Given the description of an element on the screen output the (x, y) to click on. 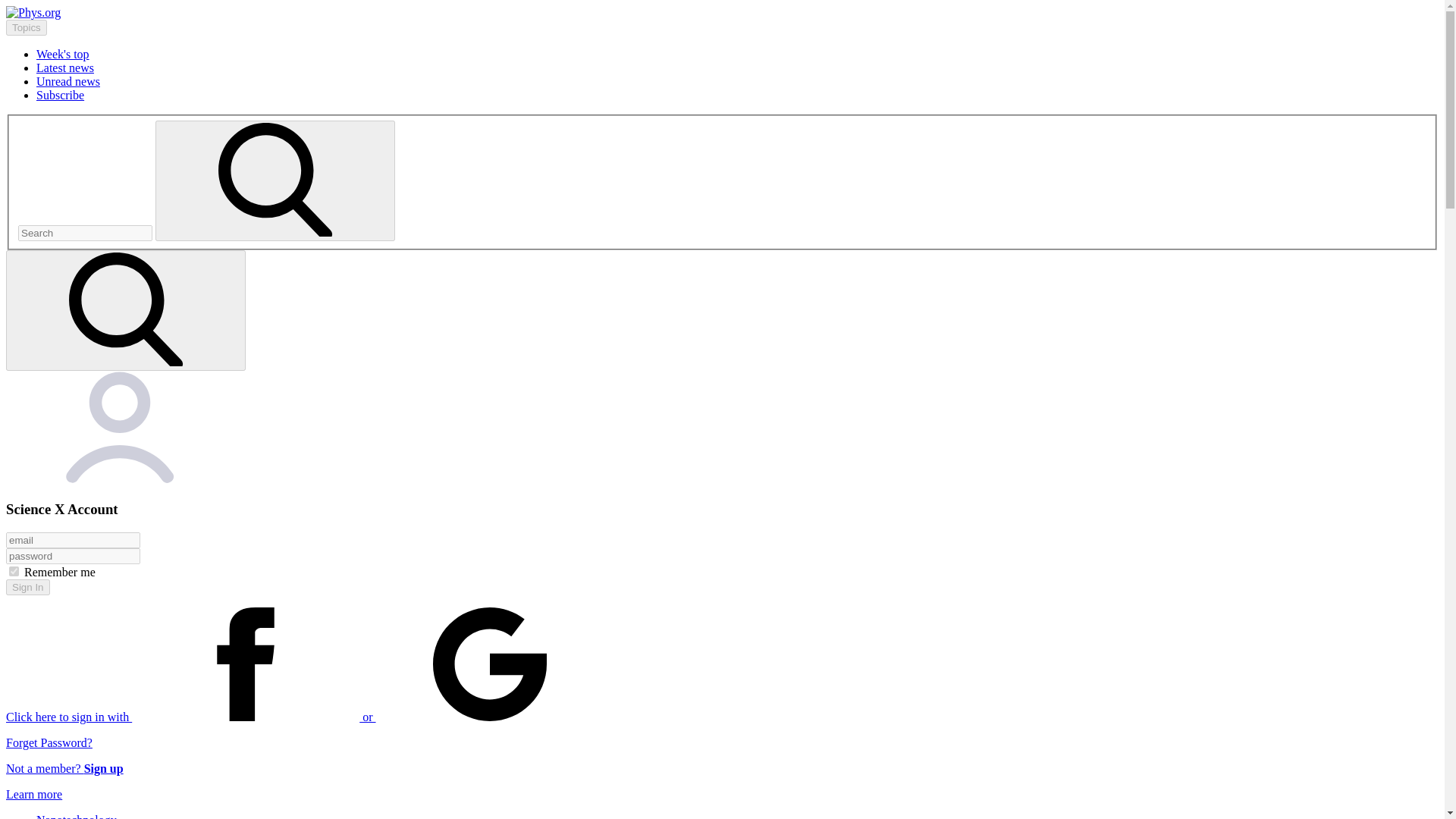
Not a member? Sign up (64, 768)
on (13, 571)
Topics (25, 27)
Nanotechnology (76, 816)
Subscribe (60, 94)
Sign In (27, 587)
Unread news (68, 81)
Forget Password? (49, 742)
Click here to sign in with or (304, 716)
Latest news (65, 67)
Week's top (62, 53)
Learn more (33, 793)
